Given the description of an element on the screen output the (x, y) to click on. 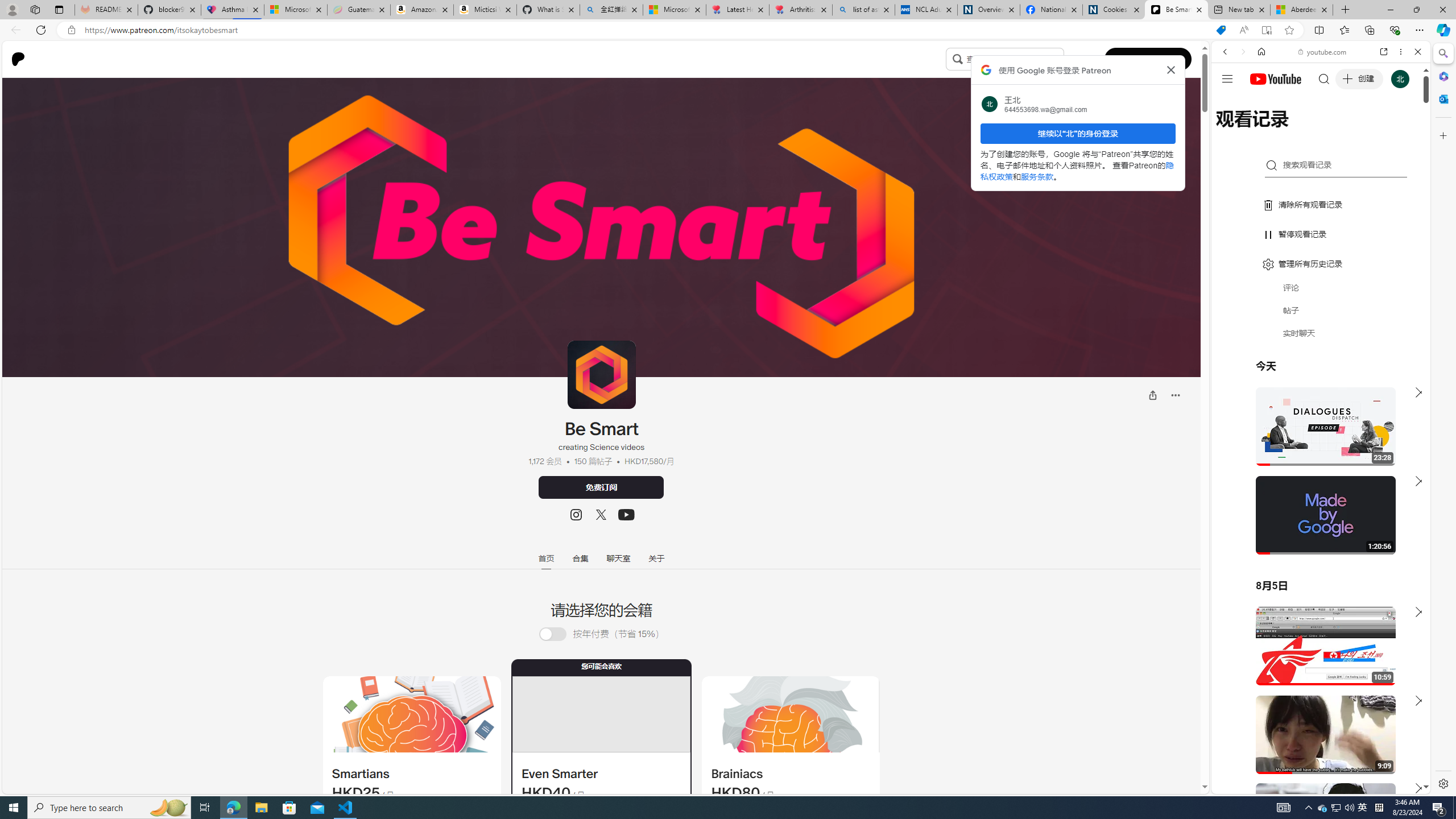
YouTube - YouTube (1315, 560)
Class: dict_pnIcon rms_img (1312, 784)
